Given the description of an element on the screen output the (x, y) to click on. 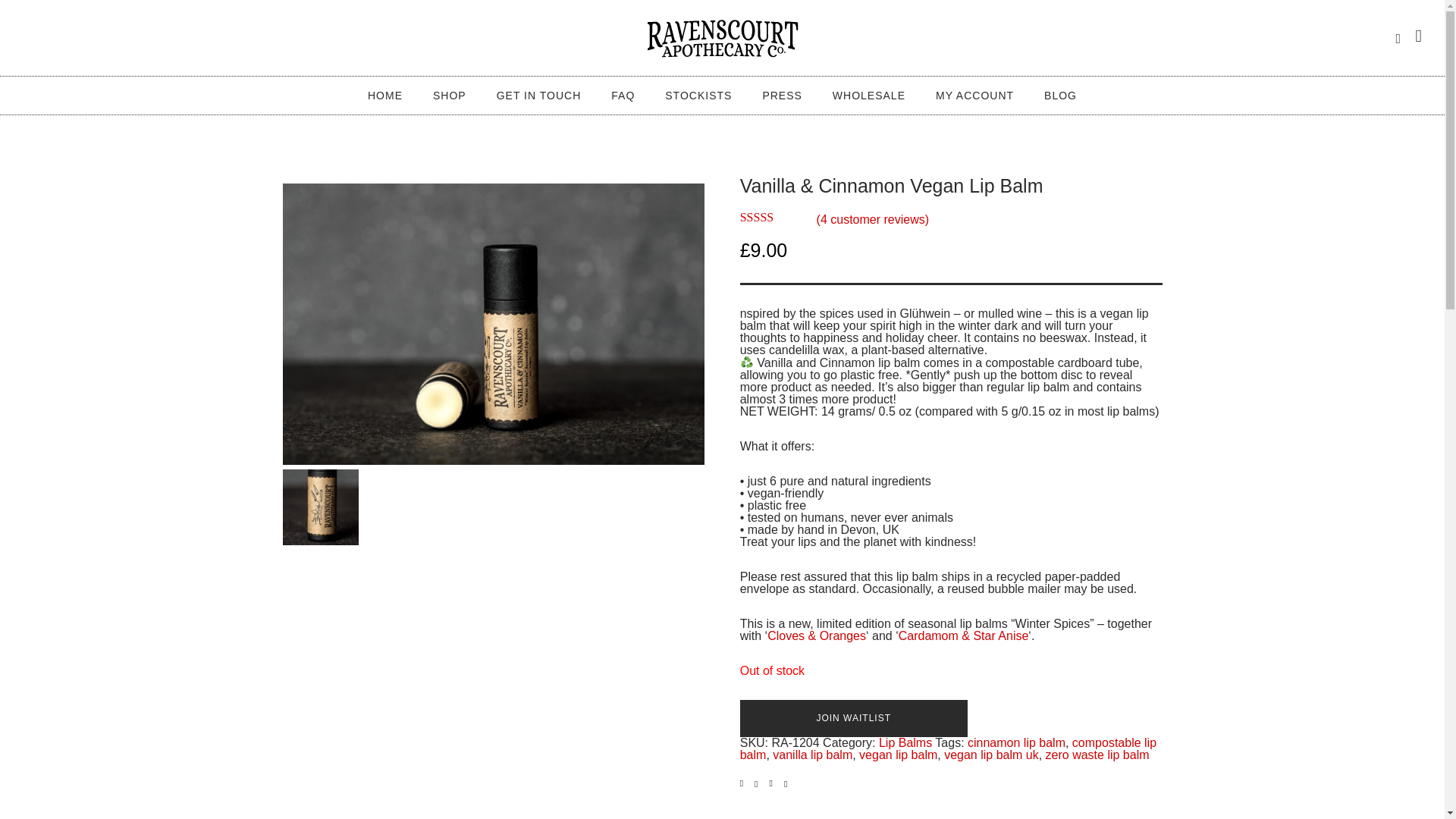
BLOG (1060, 95)
FAQ (622, 95)
Shop (449, 95)
Home (384, 95)
Stockists (697, 95)
FAQ (622, 95)
STOCKISTS (697, 95)
Get In Touch (538, 95)
GET IN TOUCH (538, 95)
SHOP (449, 95)
